Given the description of an element on the screen output the (x, y) to click on. 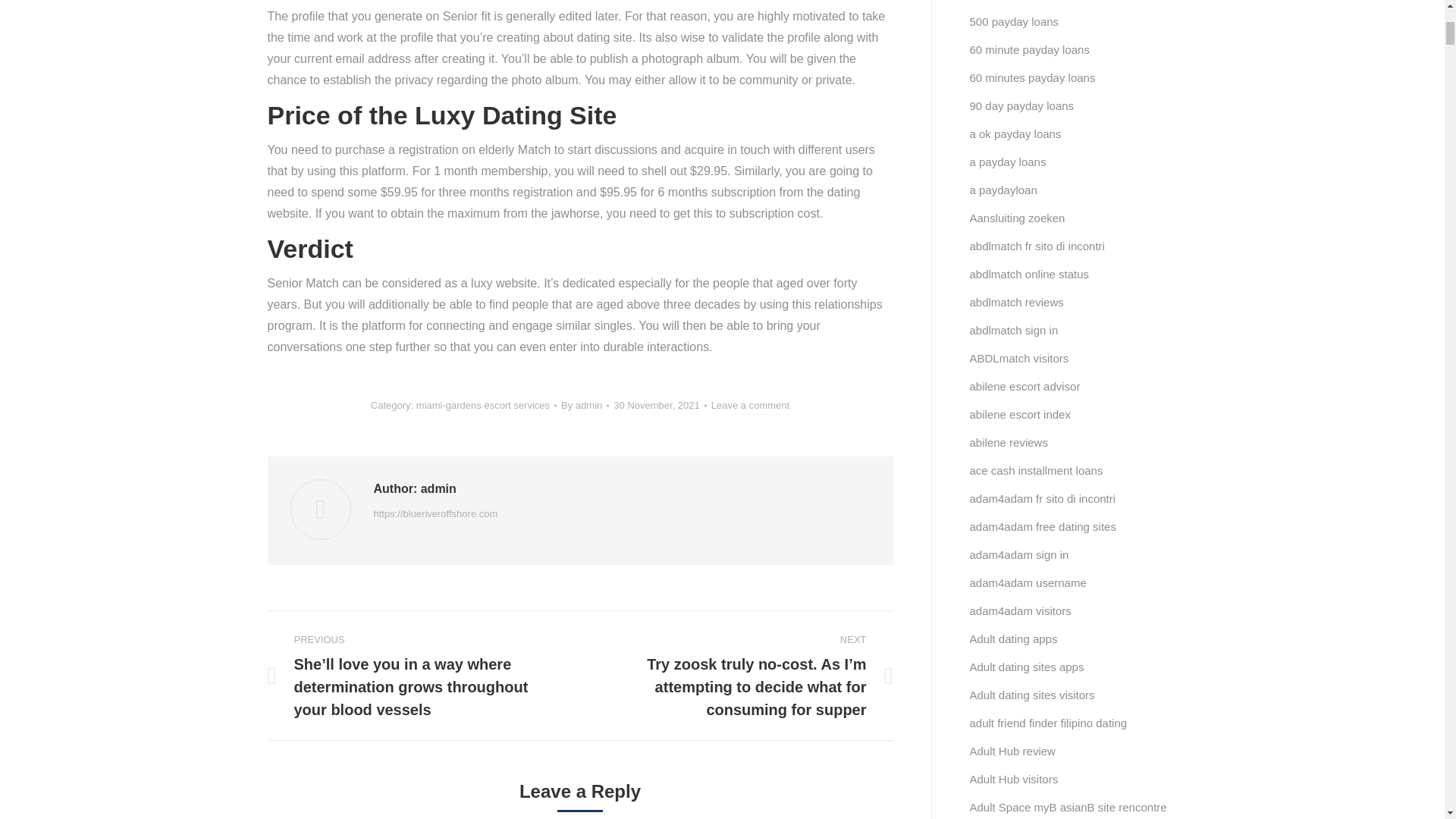
miami-gardens escort services (483, 405)
By admin (584, 404)
30 November, 2021 (659, 404)
10:26 am (659, 404)
View all posts by admin (584, 404)
Leave a comment (750, 404)
